Given the description of an element on the screen output the (x, y) to click on. 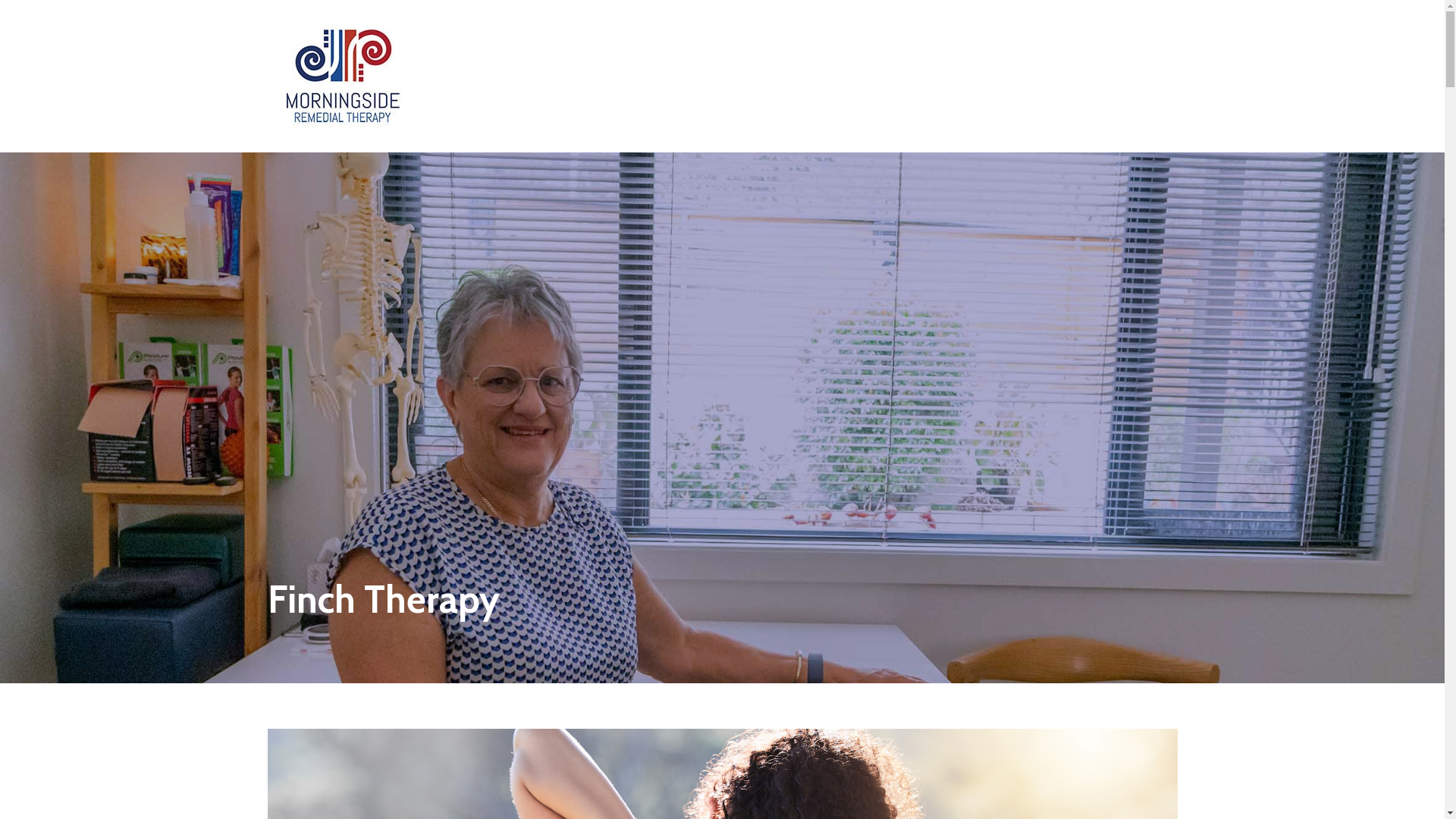
BLOG Element type: text (862, 35)
BOOK NOW Element type: text (1098, 35)
CONTACT Element type: text (991, 35)
ABOUT Element type: text (735, 35)
HOME Element type: text (679, 35)
SERVICES Element type: text (802, 35)
CLIENTS Element type: text (921, 35)
